Given the description of an element on the screen output the (x, y) to click on. 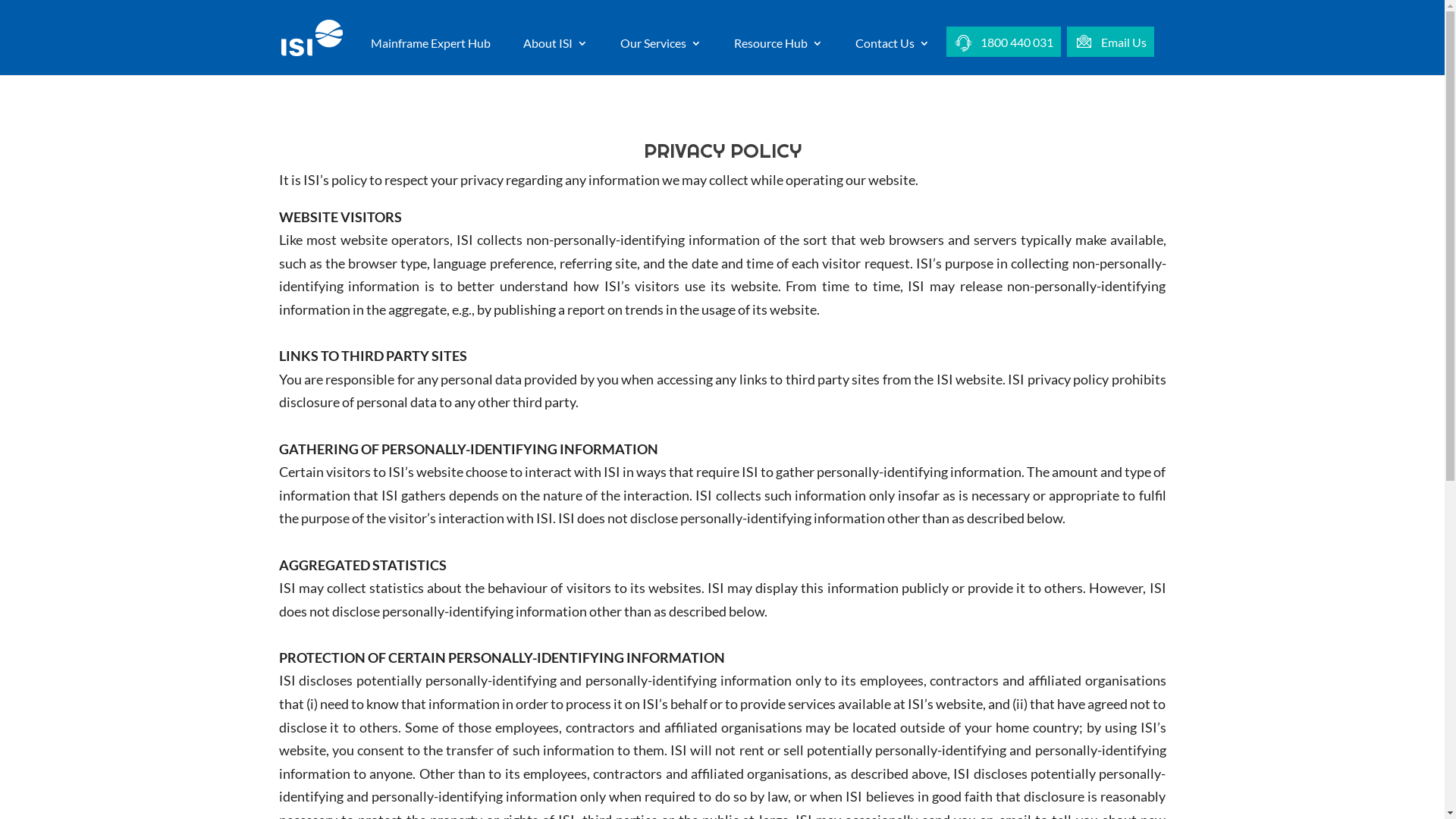
1800 440 031 Element type: text (1003, 56)
Mainframe Expert Hub Element type: text (429, 56)
Contact Us Element type: text (892, 56)
Our Services Element type: text (660, 56)
About ISI Element type: text (555, 56)
Email Us Element type: text (1109, 56)
Resource Hub Element type: text (778, 56)
